Given the description of an element on the screen output the (x, y) to click on. 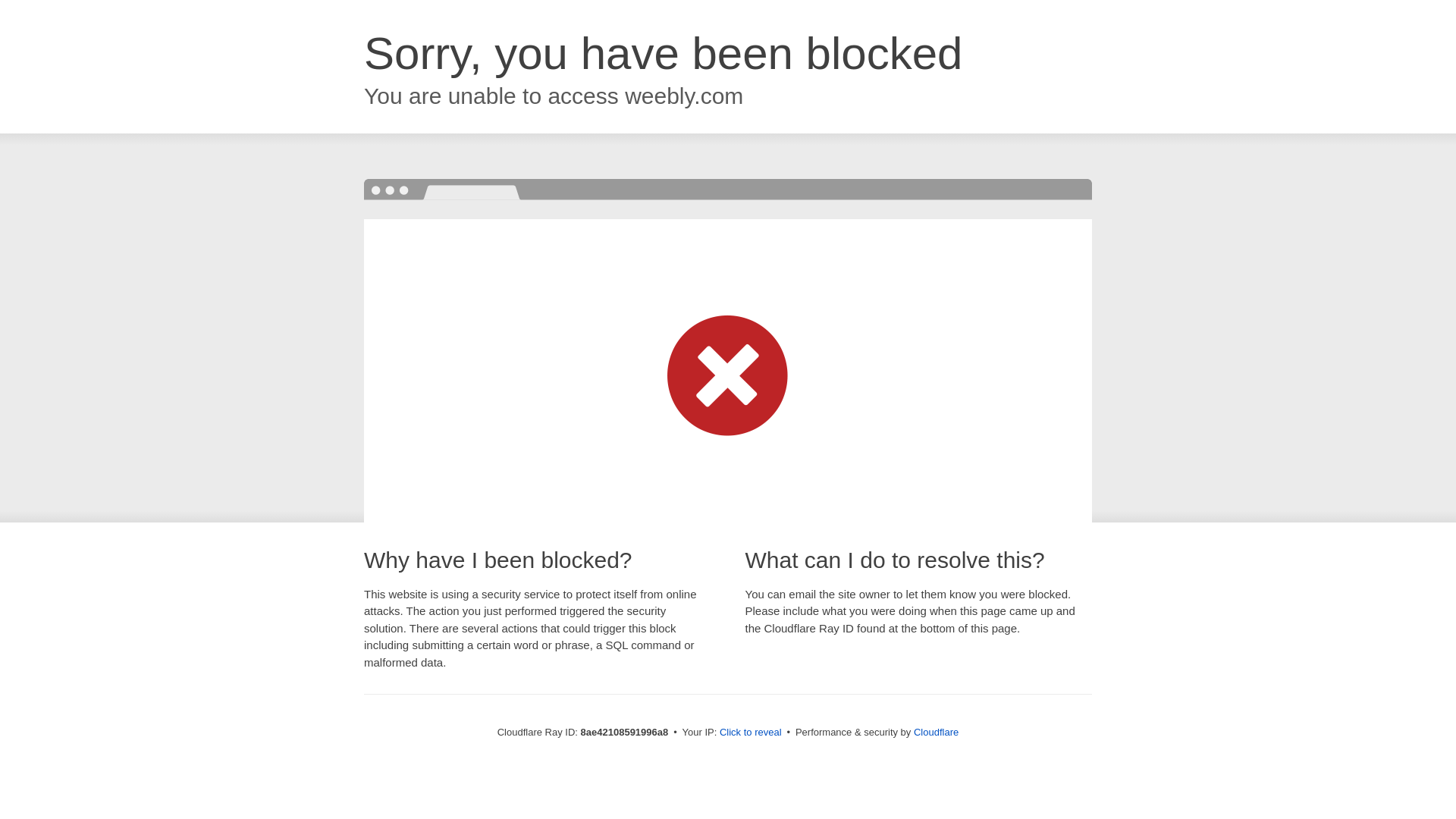
Click to reveal (750, 732)
Cloudflare (936, 731)
